Given the description of an element on the screen output the (x, y) to click on. 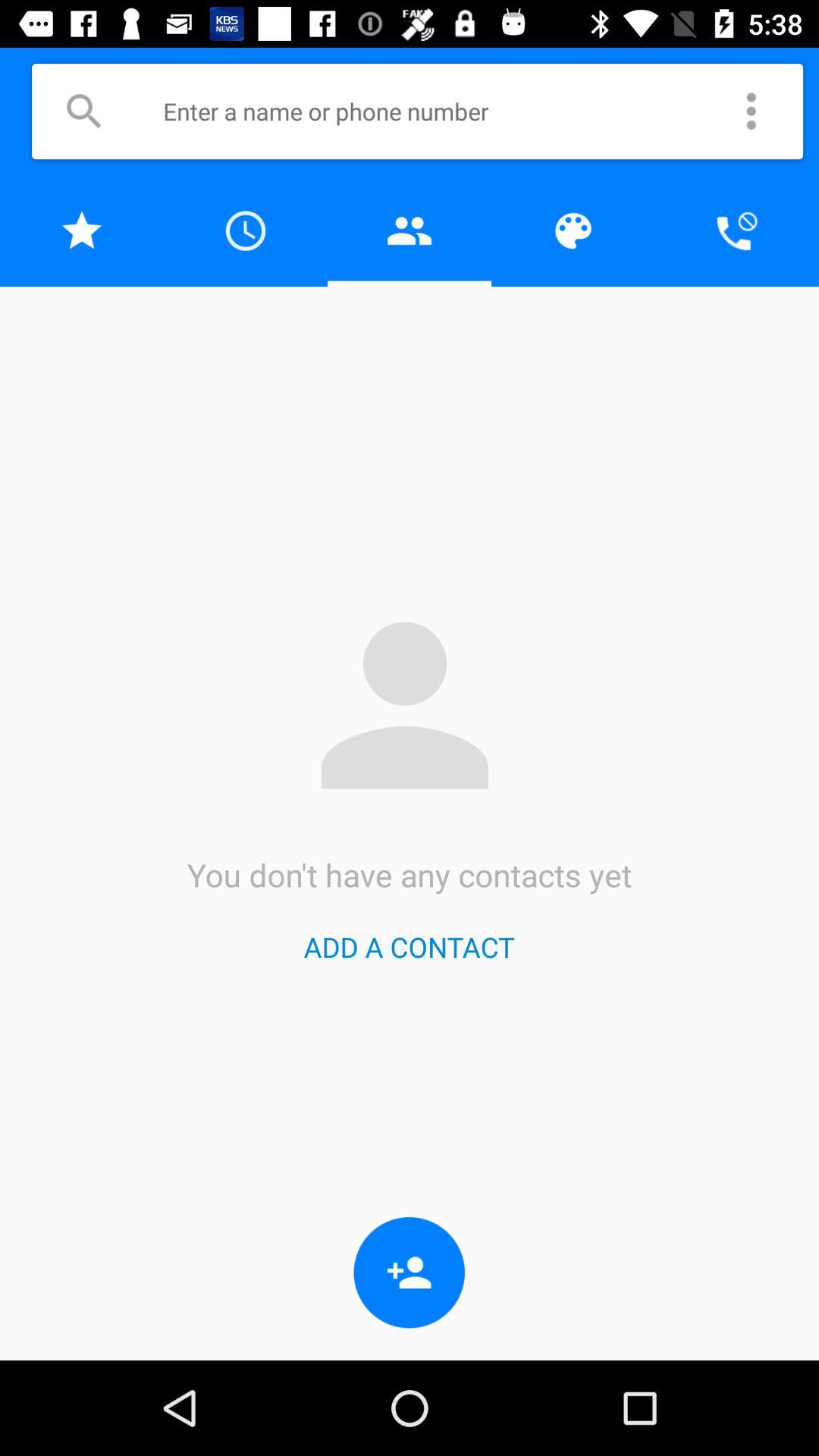
clock (245, 230)
